Given the description of an element on the screen output the (x, y) to click on. 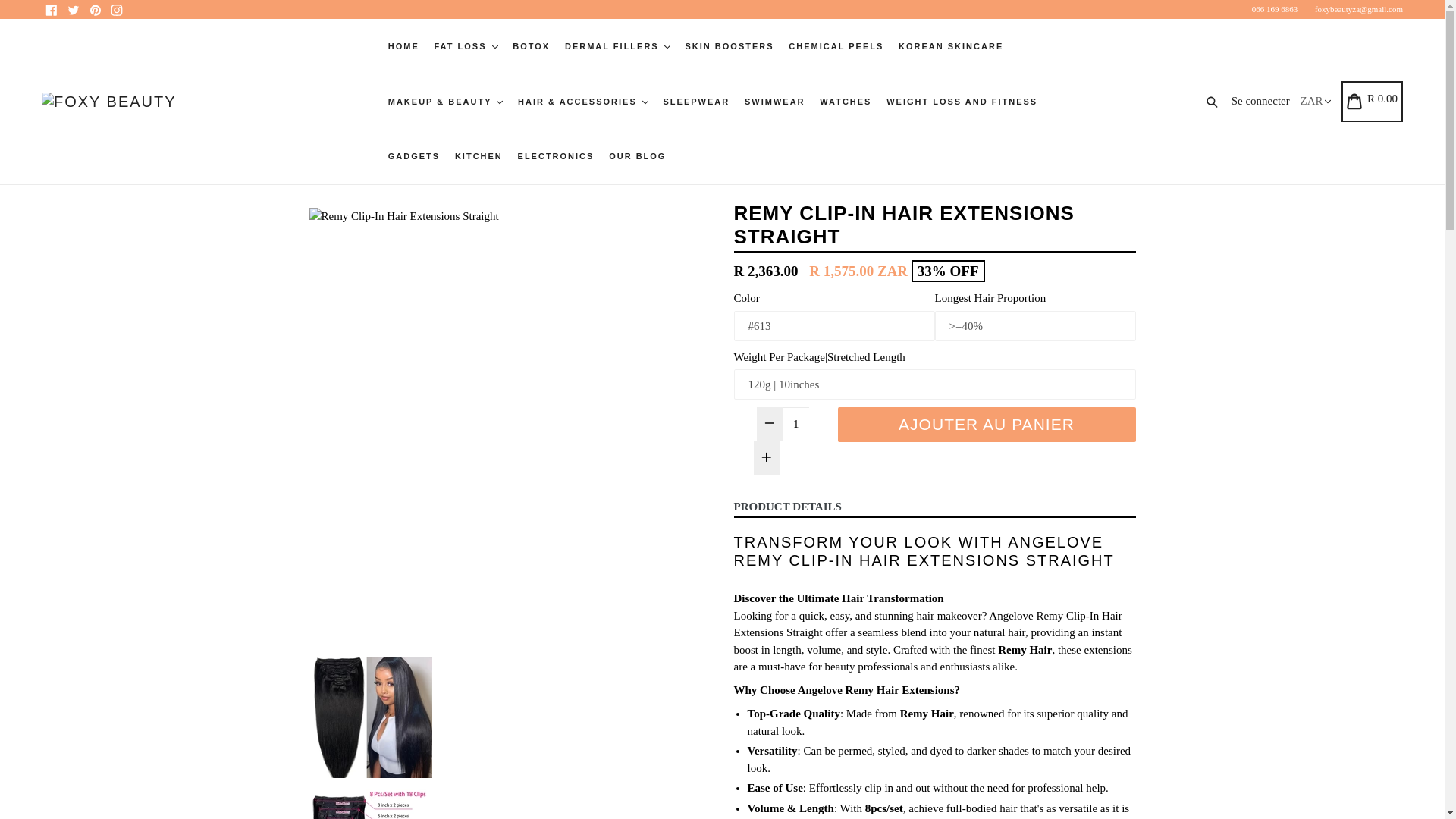
Foxy Beauty sur Instagram (116, 9)
Foxy Beauty sur Twitter (73, 9)
Foxy Beauty sur Facebook (51, 9)
Foxy Beauty sur Pinterest (94, 9)
